Given the description of an element on the screen output the (x, y) to click on. 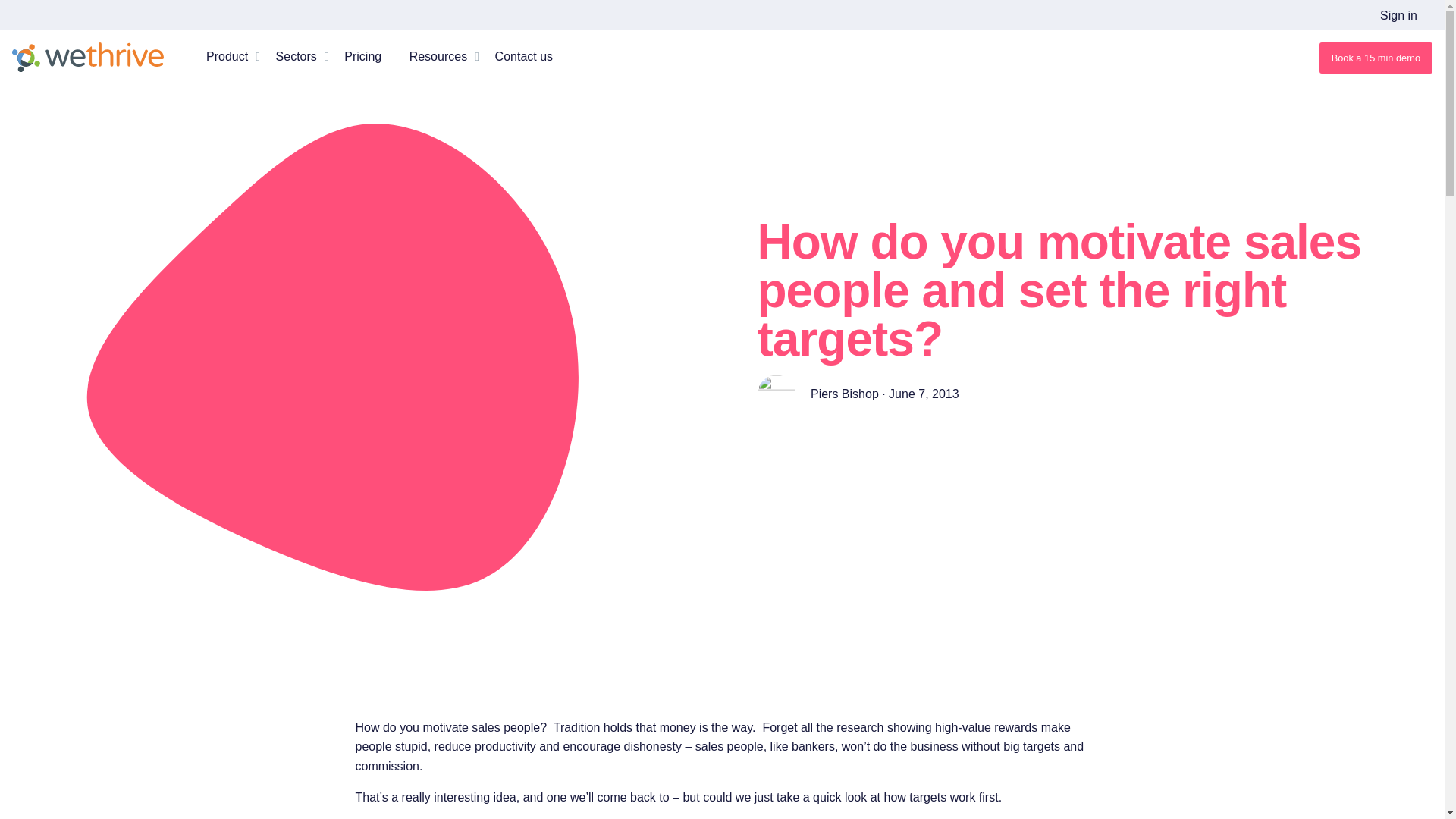
WeThrive (87, 57)
Share this on Facebook (762, 479)
Share this on Twitter (786, 479)
Book a 15 min demo (1376, 57)
Resources (438, 56)
Contact us (524, 56)
Share this on LinkedIn (774, 479)
Product (226, 56)
Sign in (1398, 15)
Pricing (362, 56)
Sectors (296, 56)
